Given the description of an element on the screen output the (x, y) to click on. 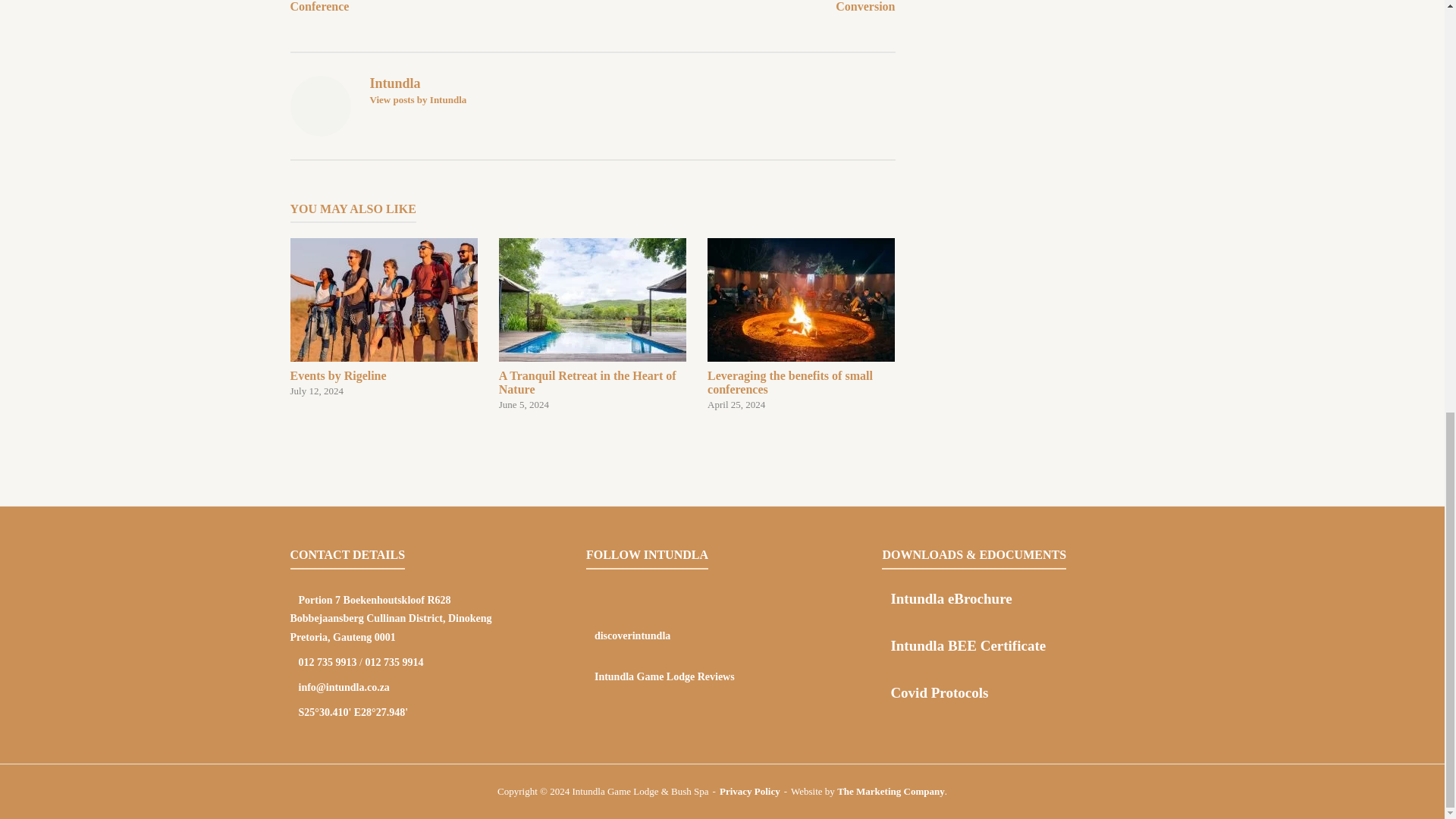
CONTACT DETAILS (383, 317)
A Tranquil Retreat in the Heart of Nature (346, 554)
012 735 9913 (592, 324)
Events by Rigeline (327, 662)
Leveraging the benefits of small conferences (383, 317)
View posts by Intundla (801, 324)
